Given the description of an element on the screen output the (x, y) to click on. 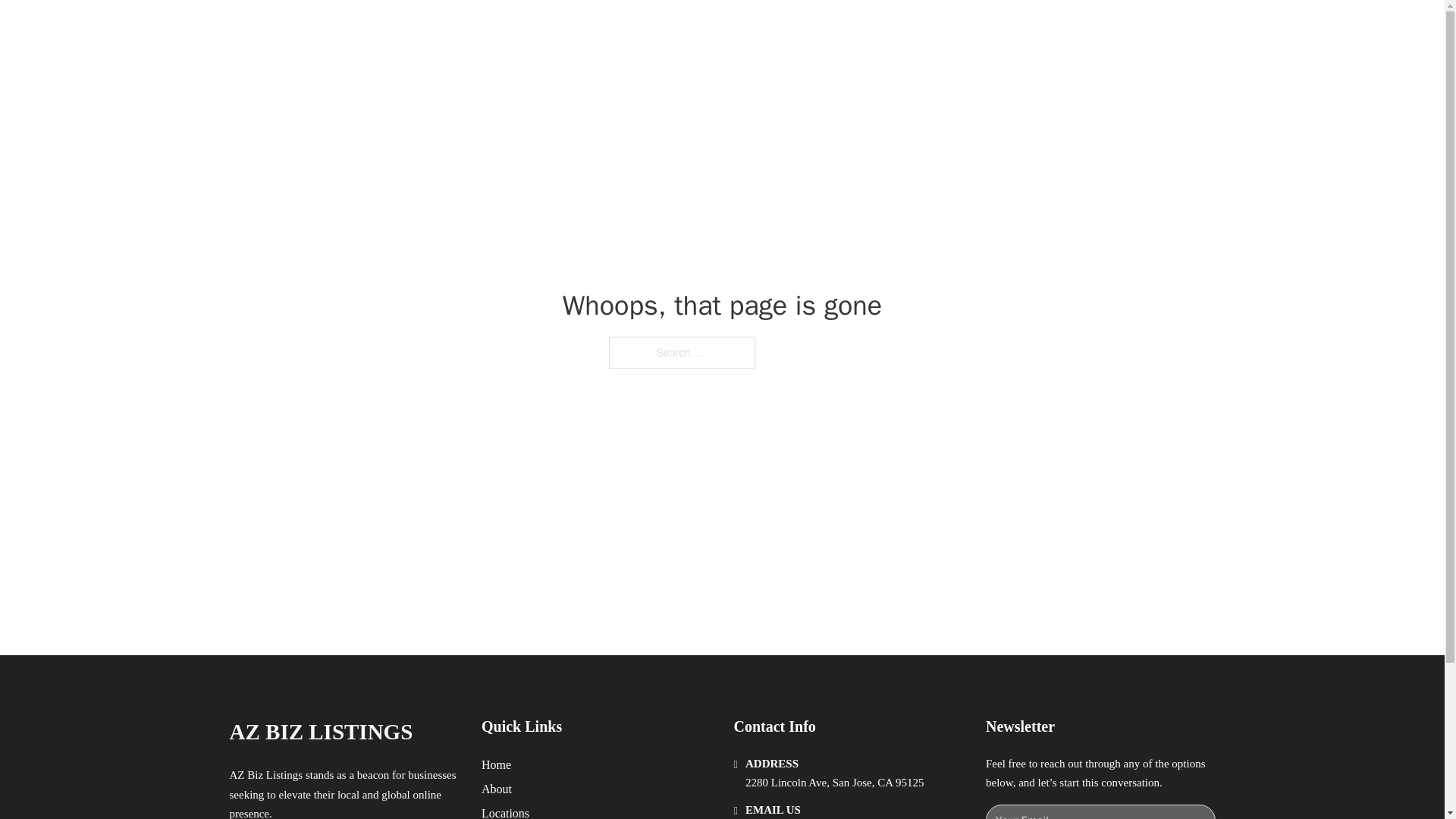
Home (496, 764)
AZ BIZ LISTINGS (320, 732)
AZ BIZ LISTINGS (393, 28)
HOME (919, 29)
About (496, 788)
LOCATIONS (990, 29)
Locations (505, 811)
